Given the description of an element on the screen output the (x, y) to click on. 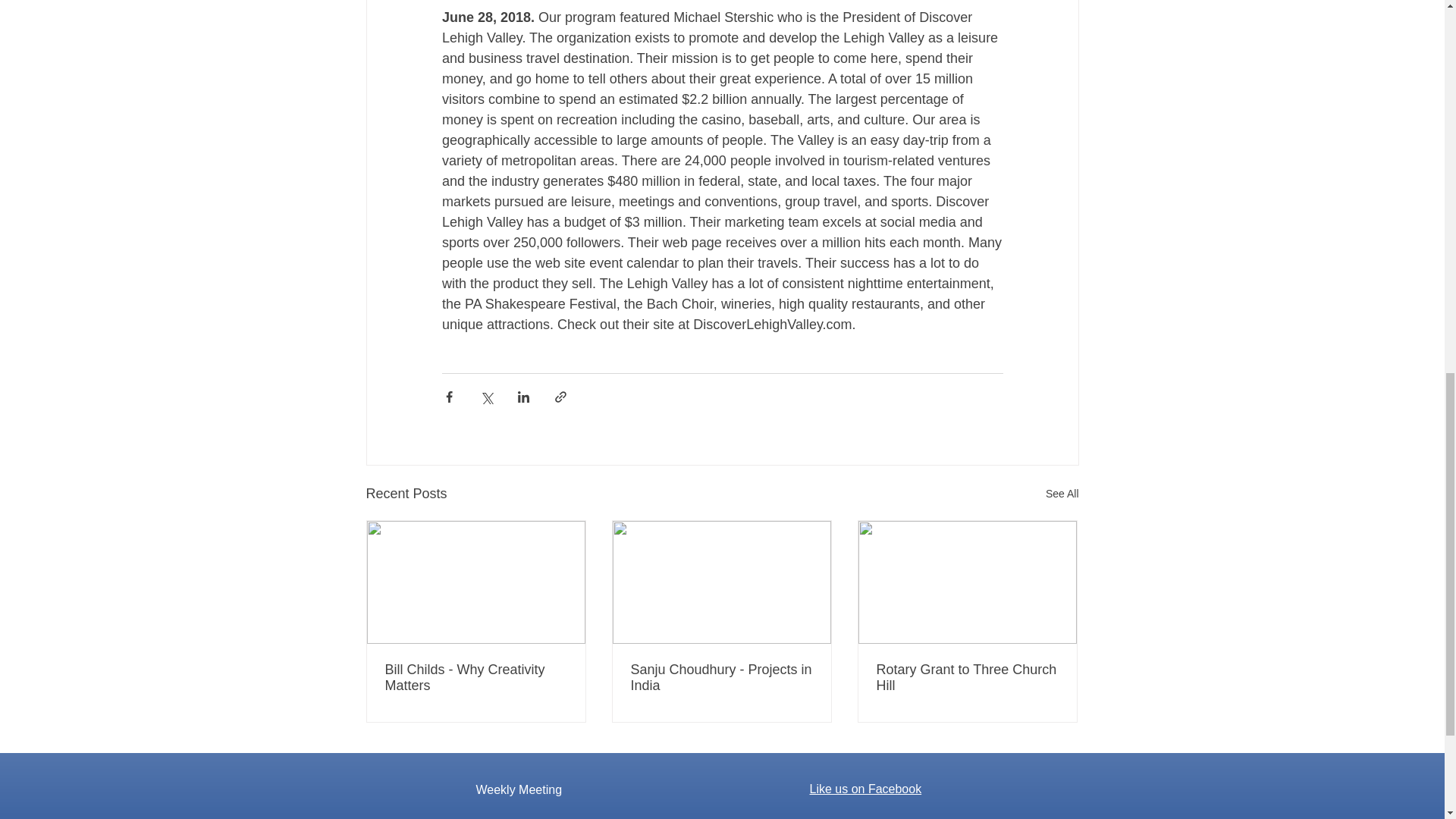
Sanju Choudhury - Projects in India (721, 677)
Bill Childs - Why Creativity Matters (476, 677)
Rotary Grant to Three Church Hill (967, 677)
Like us on Facebook (865, 788)
See All (1061, 494)
